Given the description of an element on the screen output the (x, y) to click on. 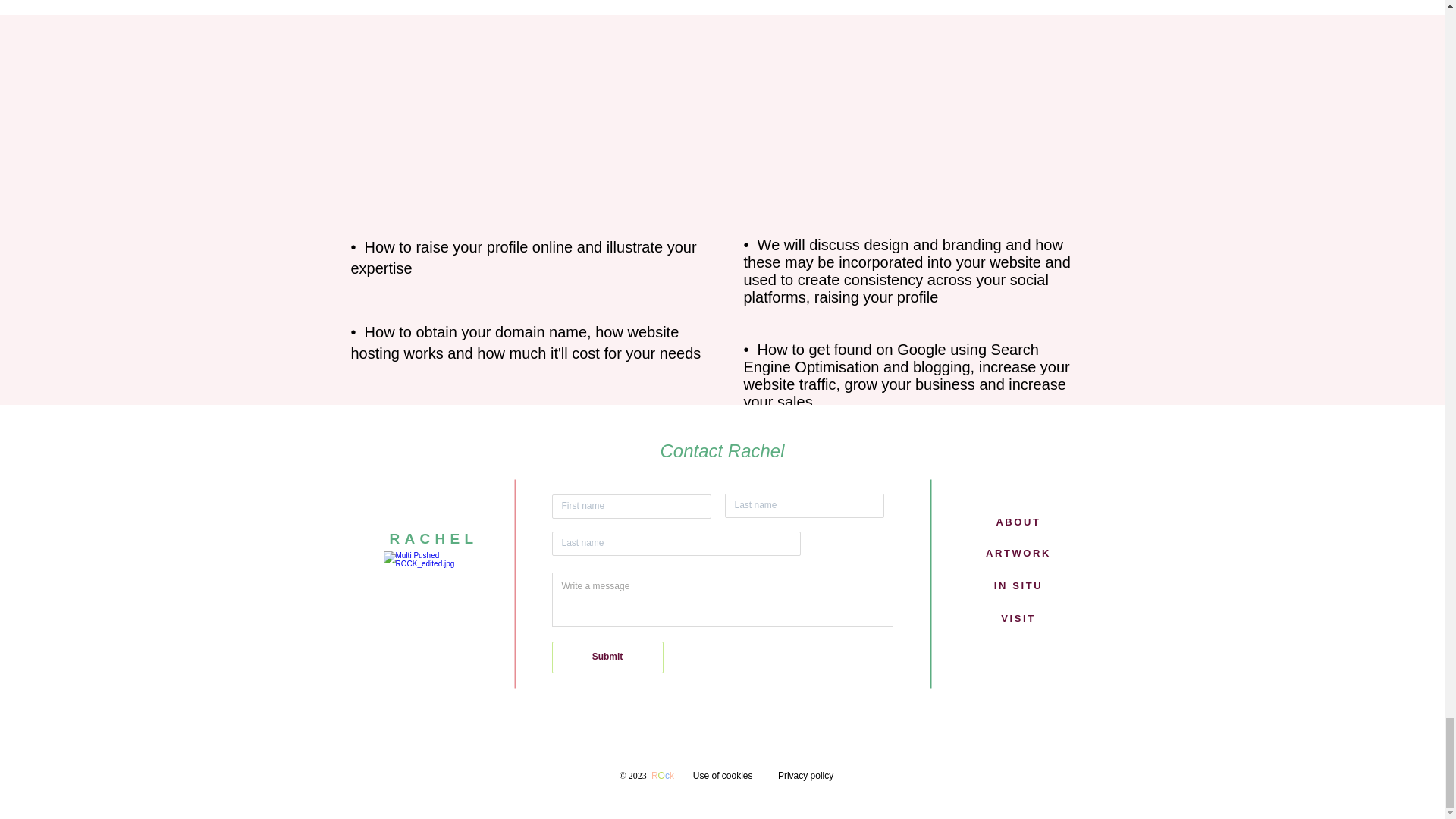
Use of cookies (722, 775)
Privacy policy (804, 775)
BOOK NOW (723, 684)
ABOUT (1018, 521)
VISIT (1018, 618)
IN SITU (1018, 585)
Submit (607, 657)
ARTWORK (1018, 552)
